Given the description of an element on the screen output the (x, y) to click on. 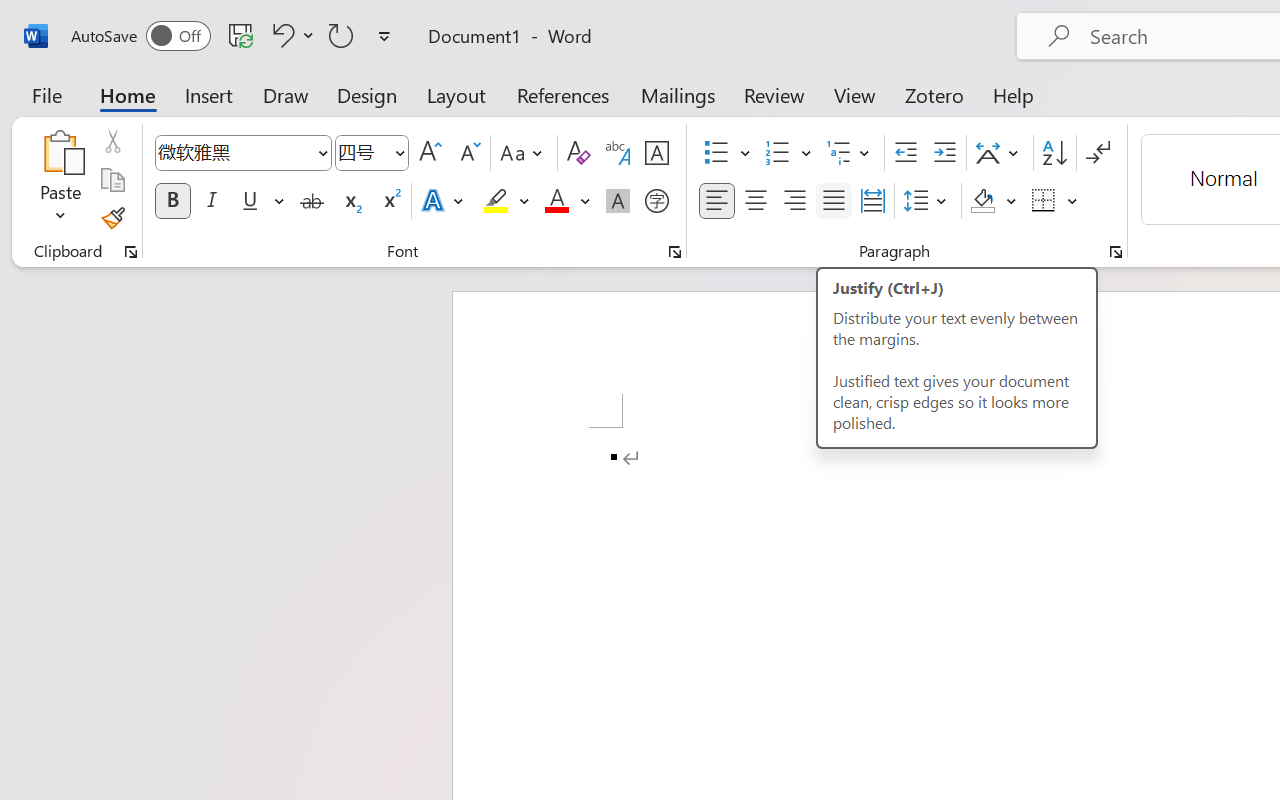
Undo <ApplyStyleToDoc>b__0 (290, 35)
